Given the description of an element on the screen output the (x, y) to click on. 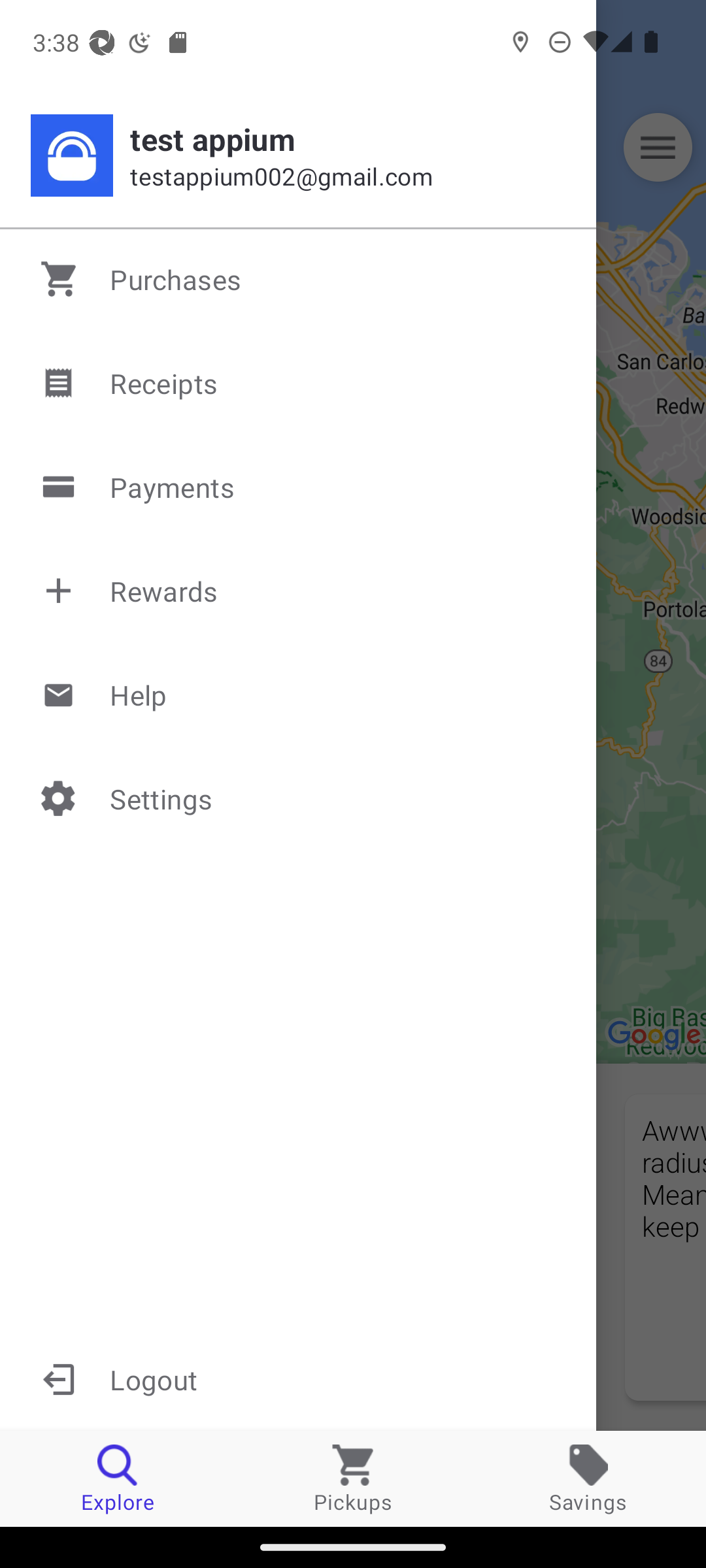
Purchases (299, 278)
Receipts (299, 382)
Payments (299, 487)
Rewards (299, 590)
Help (299, 694)
Settings (299, 797)
Logout (297, 1379)
Pickups (352, 1478)
Savings (588, 1478)
